Given the description of an element on the screen output the (x, y) to click on. 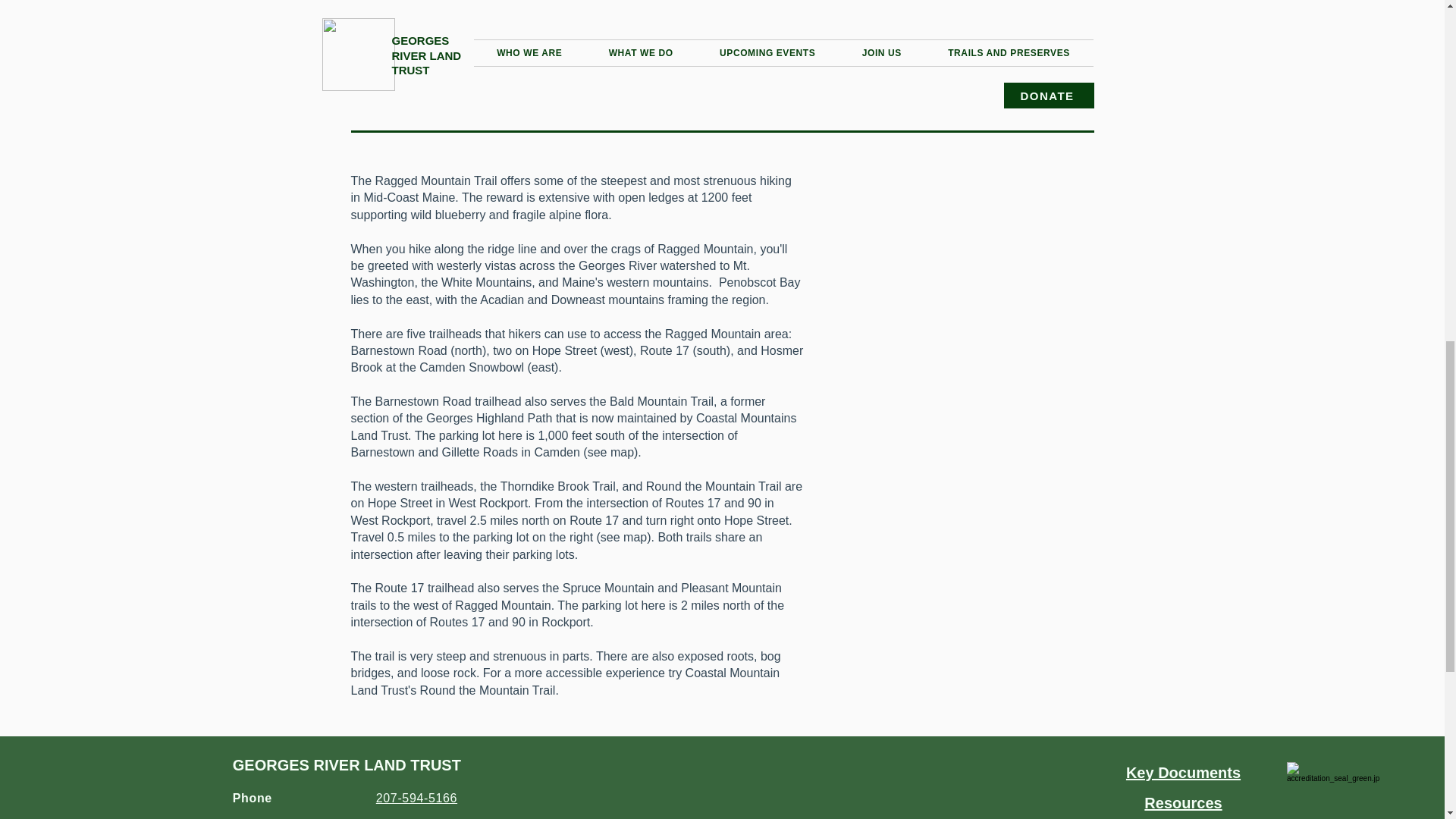
Phone (252, 797)
Key Documents (1182, 772)
GEORGES RIVER LAND TRUST (346, 764)
Resources (1182, 802)
207-594-5166 (416, 797)
